Given the description of an element on the screen output the (x, y) to click on. 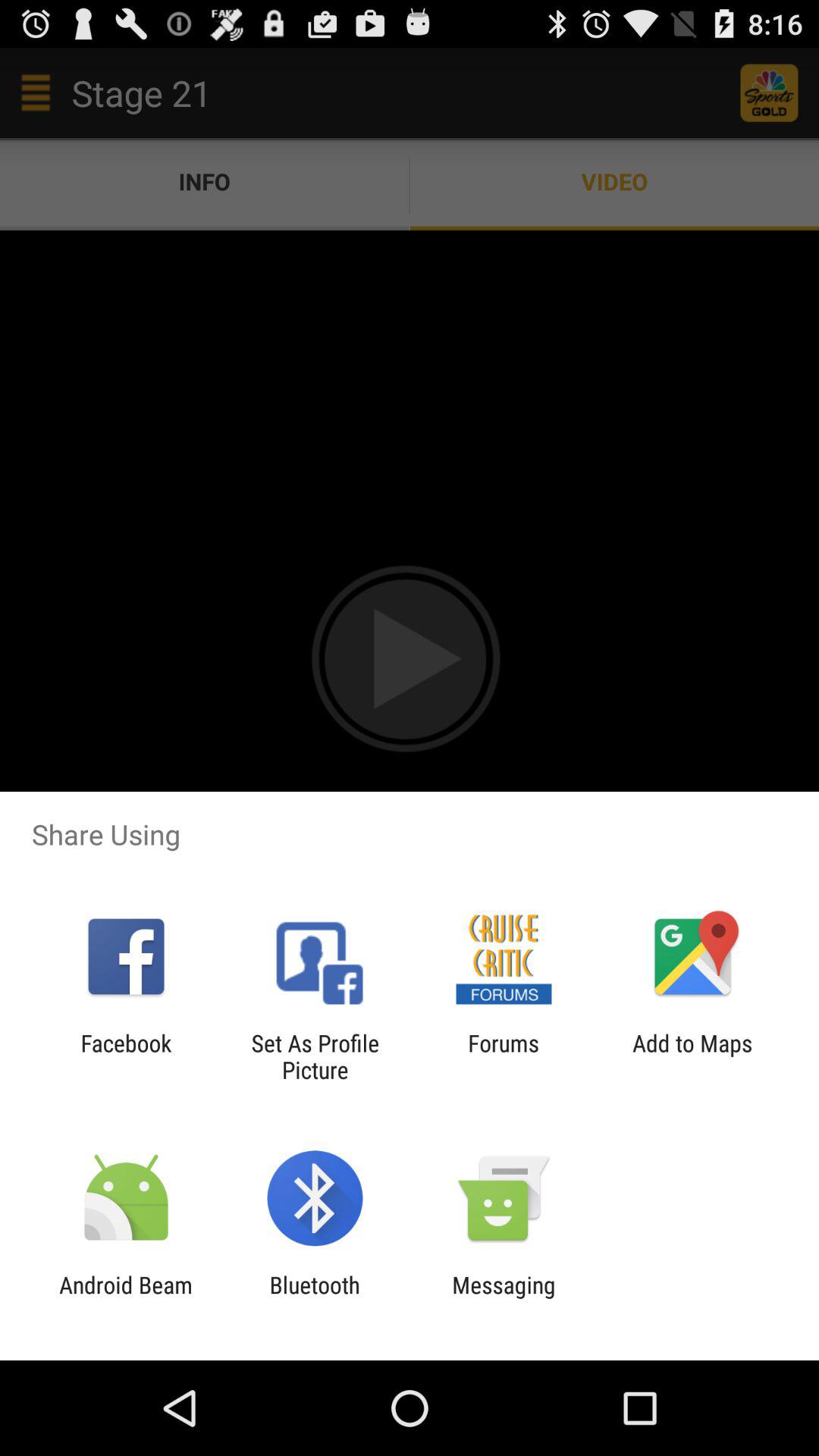
select icon at the bottom right corner (692, 1056)
